Given the description of an element on the screen output the (x, y) to click on. 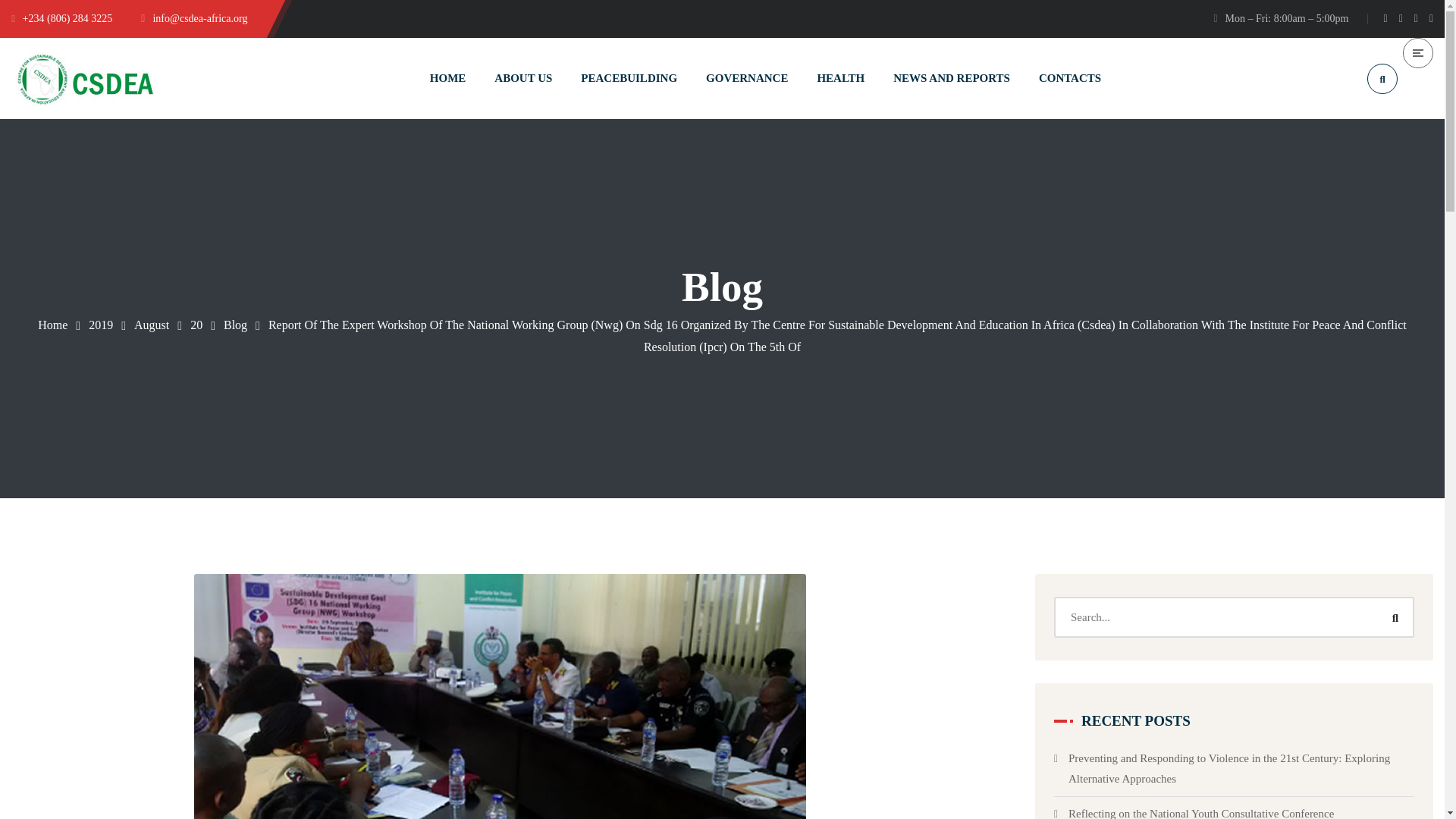
Blog (235, 324)
PEACEBUILDING (628, 77)
Blog (235, 324)
August 2019 (150, 324)
Home (51, 324)
2019 (100, 324)
August (150, 324)
GOVERNANCE (746, 77)
August 20, 2019 (196, 324)
20 (196, 324)
2019 (100, 324)
Centre for Sustainable Development and Education in Africa (51, 324)
Centre for Sustainable Development and Education in Africa (82, 78)
NEWS AND REPORTS (951, 77)
